Given the description of an element on the screen output the (x, y) to click on. 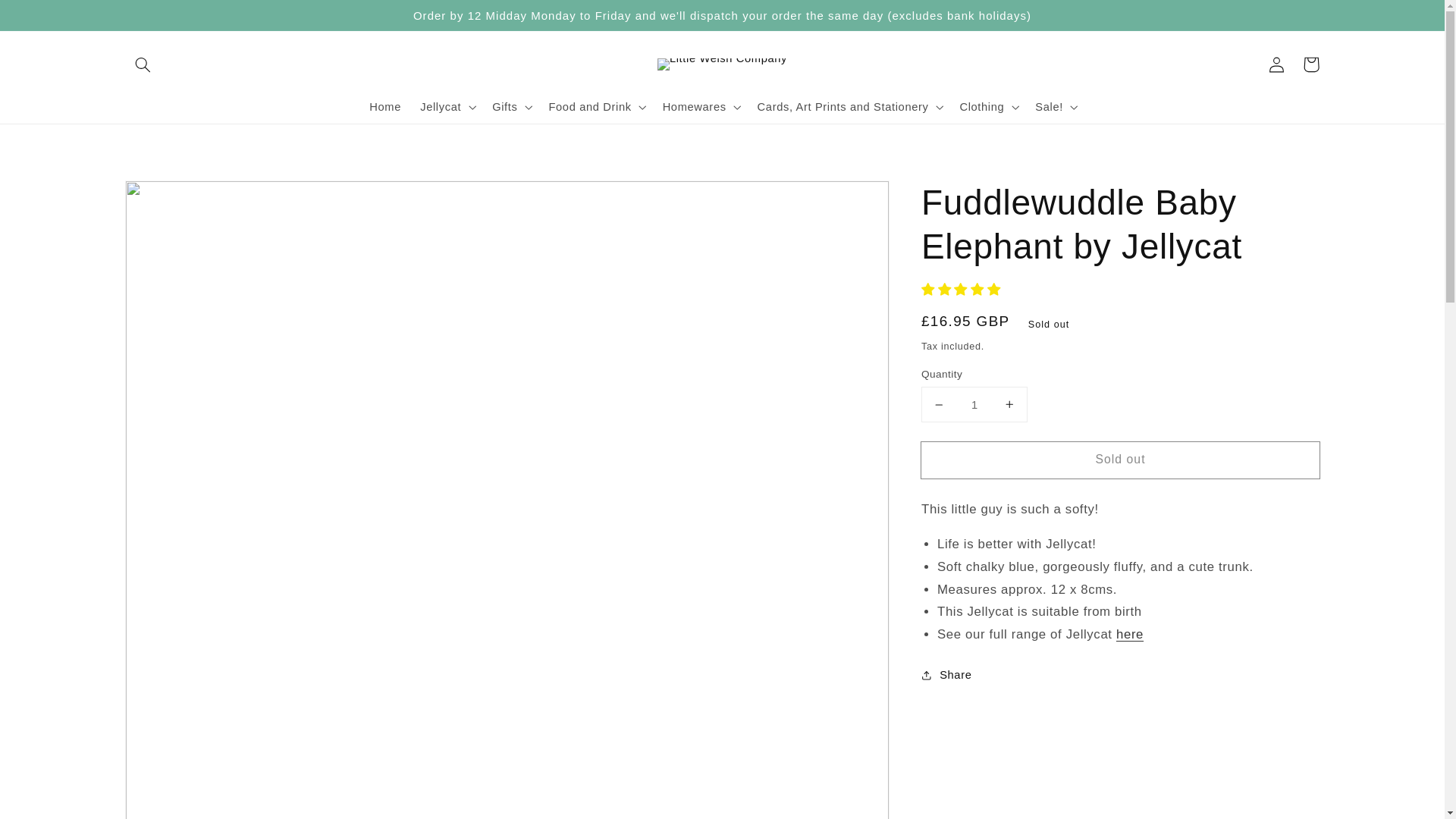
1 (974, 404)
Skip to content (47, 17)
